Given the description of an element on the screen output the (x, y) to click on. 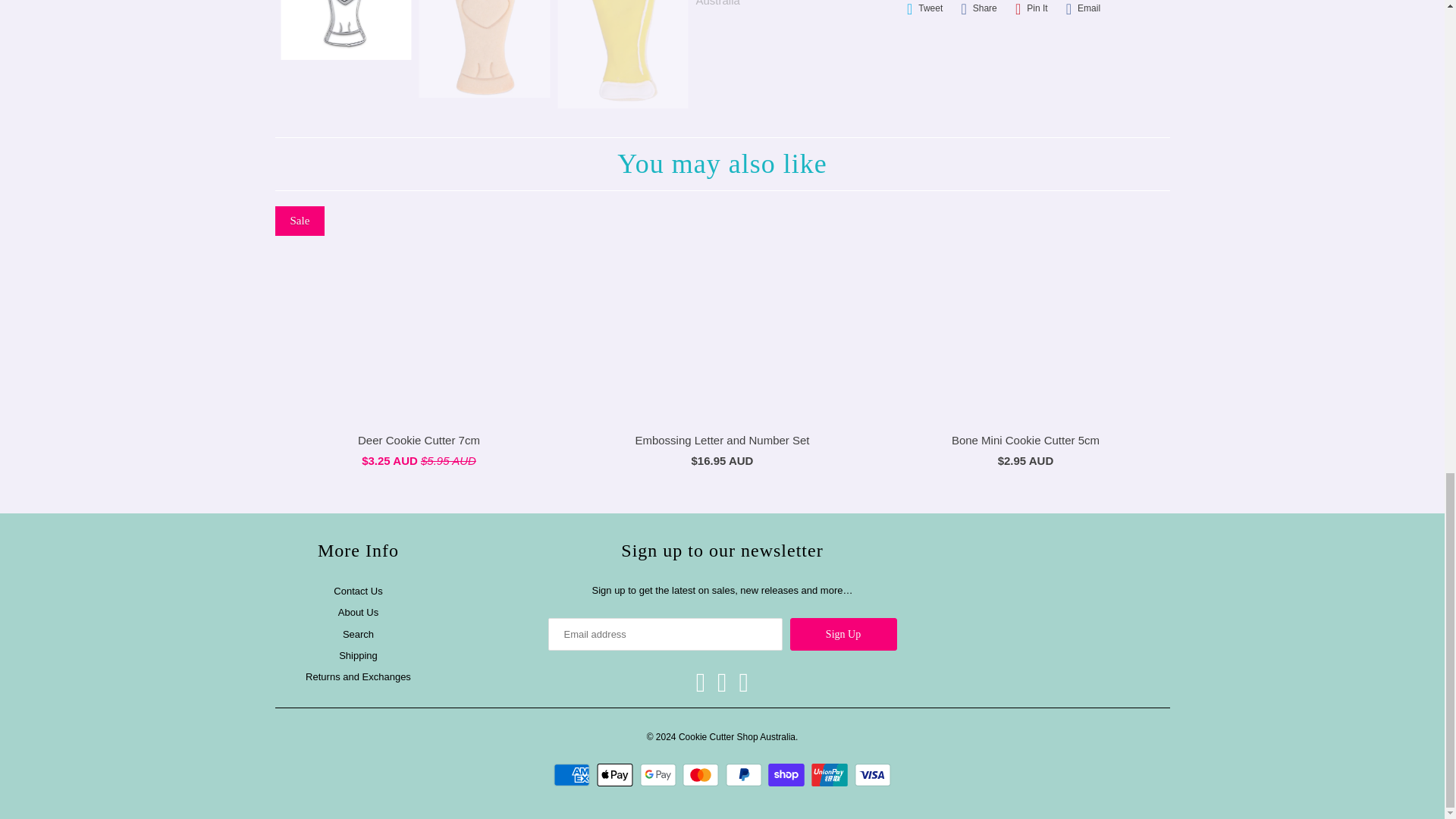
Google Pay (659, 774)
American Express (573, 774)
Sign Up (843, 634)
Share this on Facebook (978, 10)
Share this on Pinterest (1031, 10)
Union Pay (830, 774)
Apple Pay (616, 774)
Email this to a friend (1083, 10)
PayPal (745, 774)
Mastercard (702, 774)
